Given the description of an element on the screen output the (x, y) to click on. 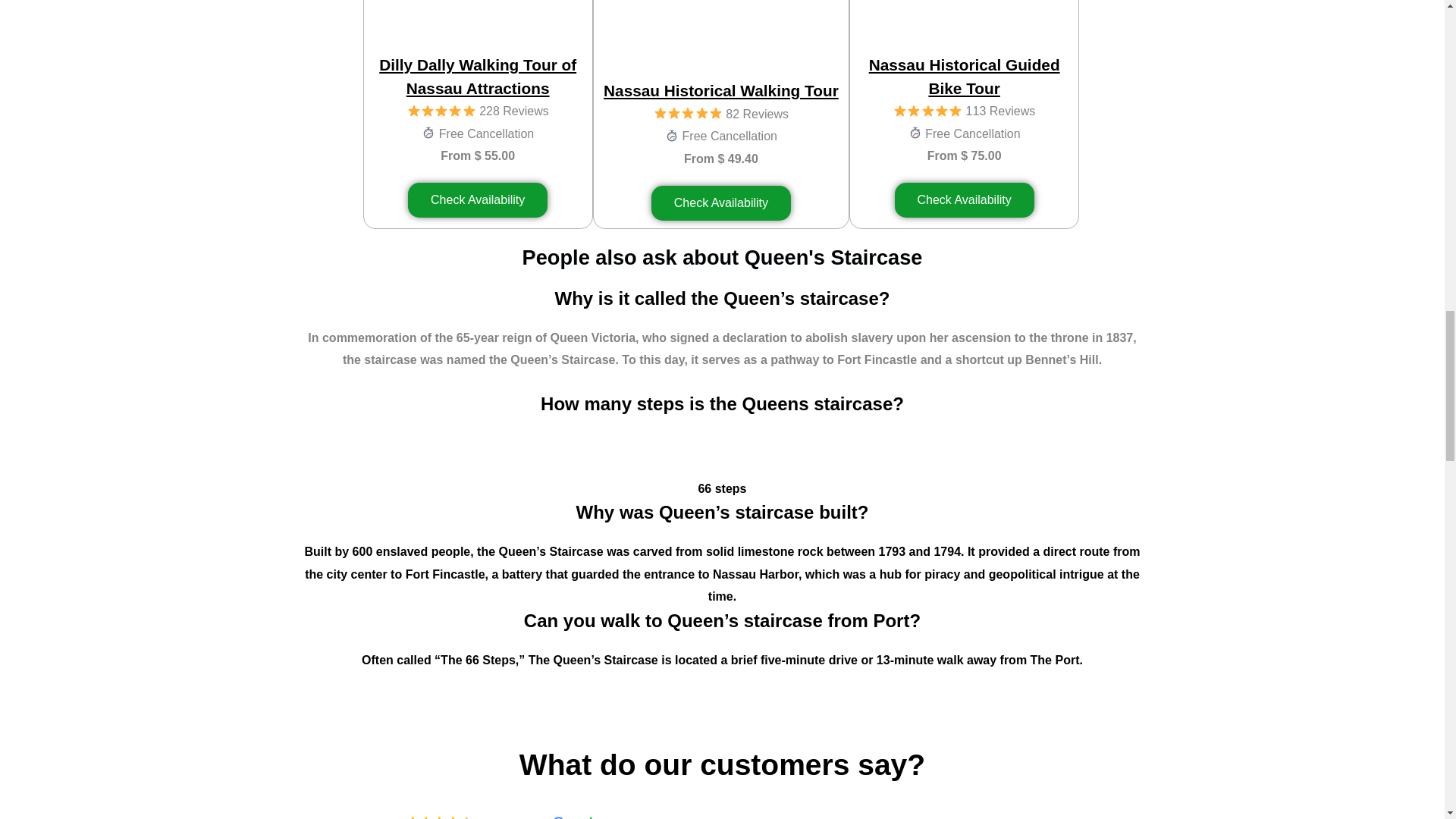
Check Availability (964, 199)
Check Availability (720, 202)
Check Availability (477, 199)
Nassau Historical Walking Tour (721, 90)
Dilly Dally Walking Tour of Nassau Attractions (477, 76)
Nassau Historical Guided Bike Tour (964, 76)
